Given the description of an element on the screen output the (x, y) to click on. 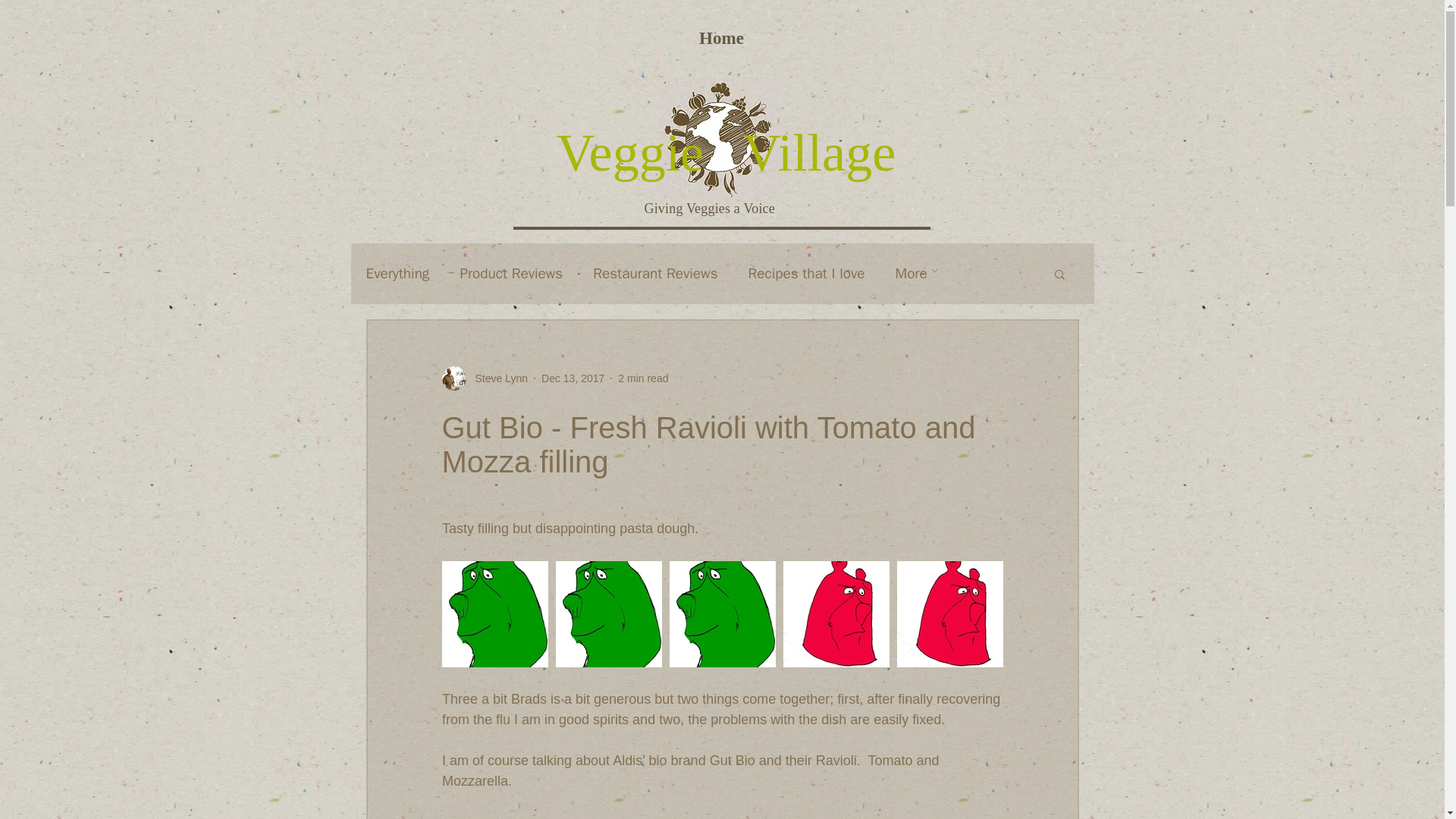
Steve Lynn (484, 378)
Dec 13, 2017 (572, 378)
Product Reviews (511, 273)
Restaurant Reviews (654, 273)
2 min read (642, 378)
Home (721, 38)
Steve Lynn (496, 378)
Recipes that I love (806, 273)
Everything (397, 273)
